Given the description of an element on the screen output the (x, y) to click on. 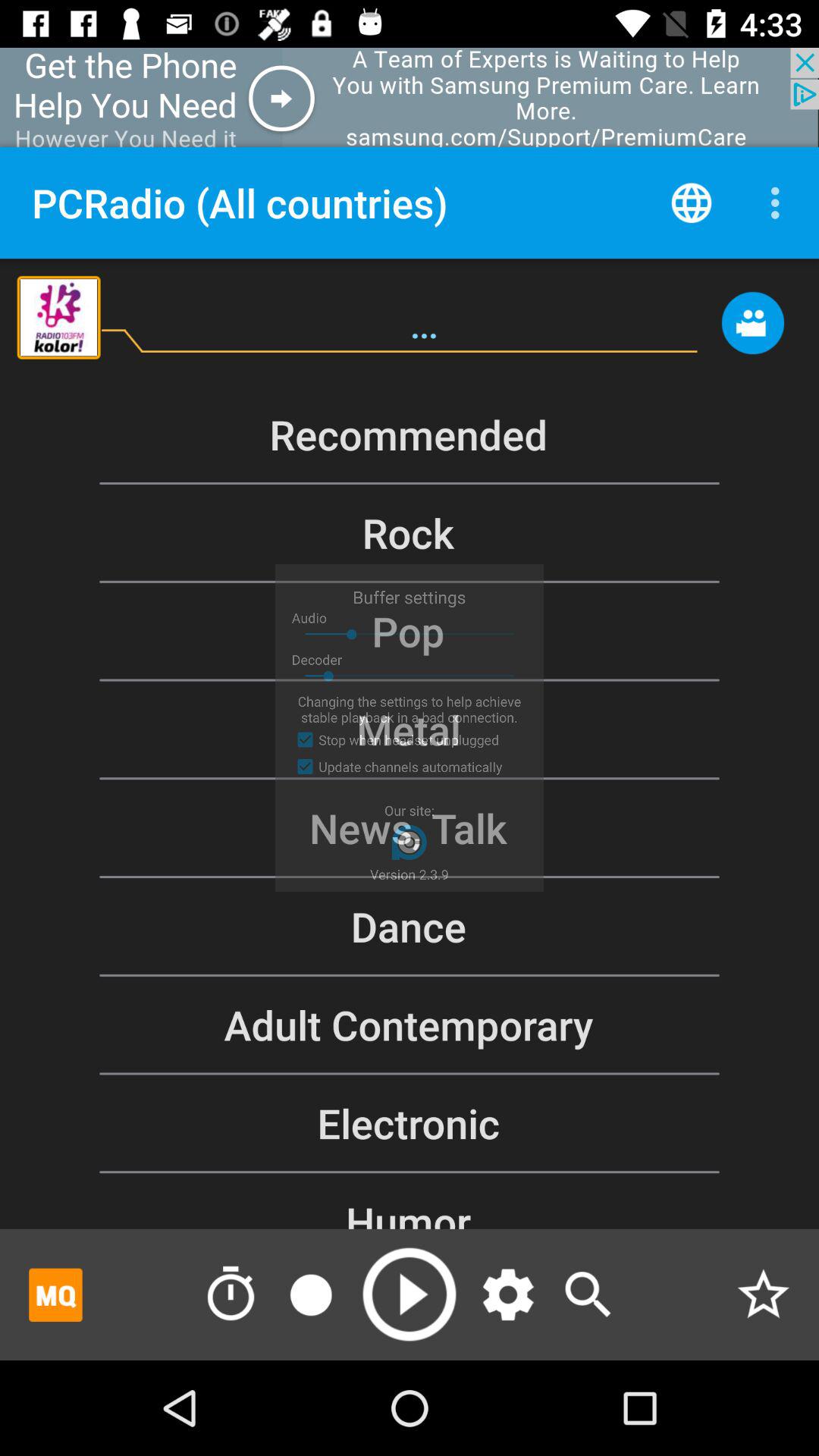
go to favourite (763, 1294)
